Given the description of an element on the screen output the (x, y) to click on. 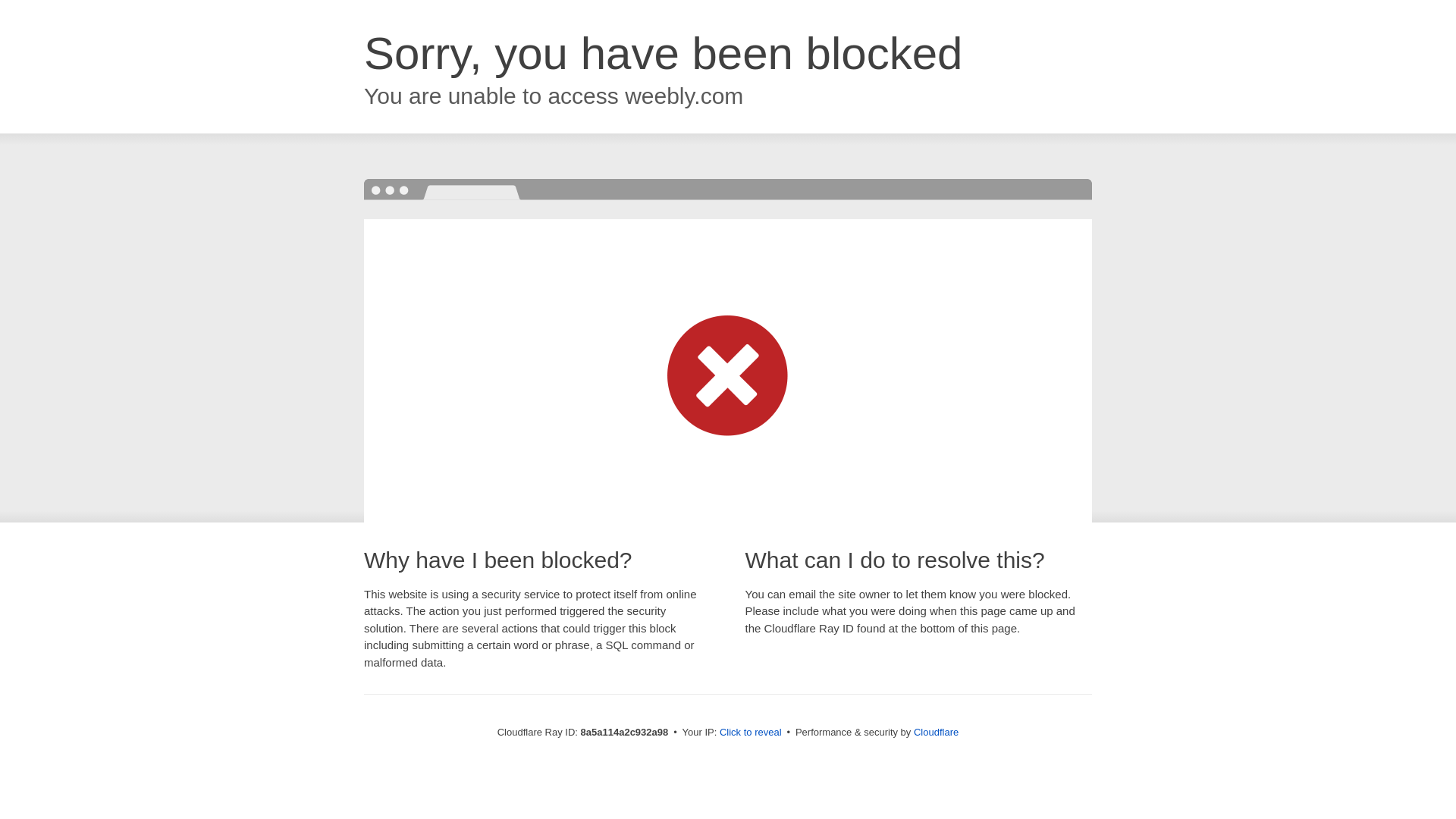
Cloudflare (936, 731)
Click to reveal (750, 732)
